Given the description of an element on the screen output the (x, y) to click on. 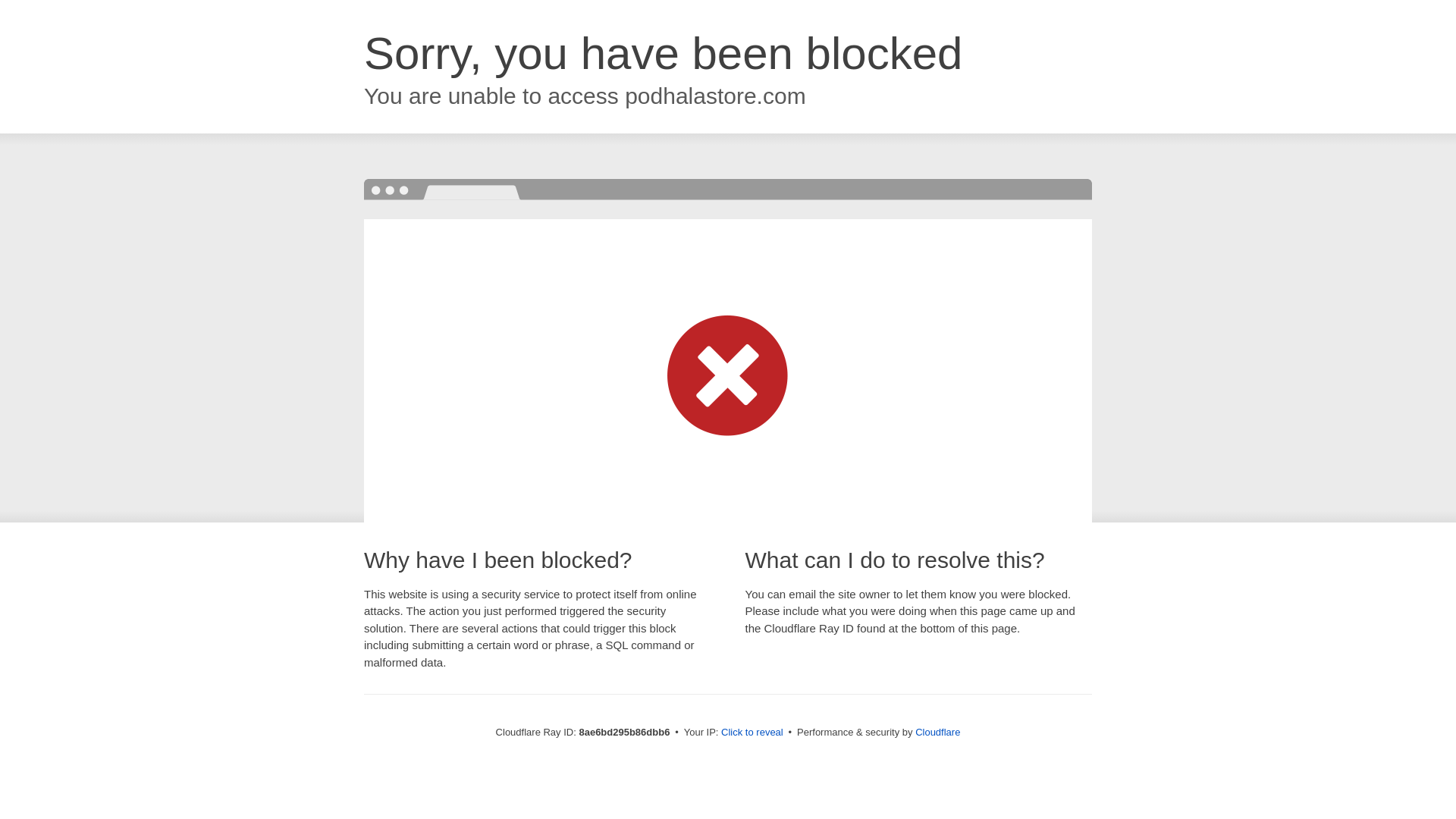
Cloudflare (937, 731)
Click to reveal (751, 732)
